Given the description of an element on the screen output the (x, y) to click on. 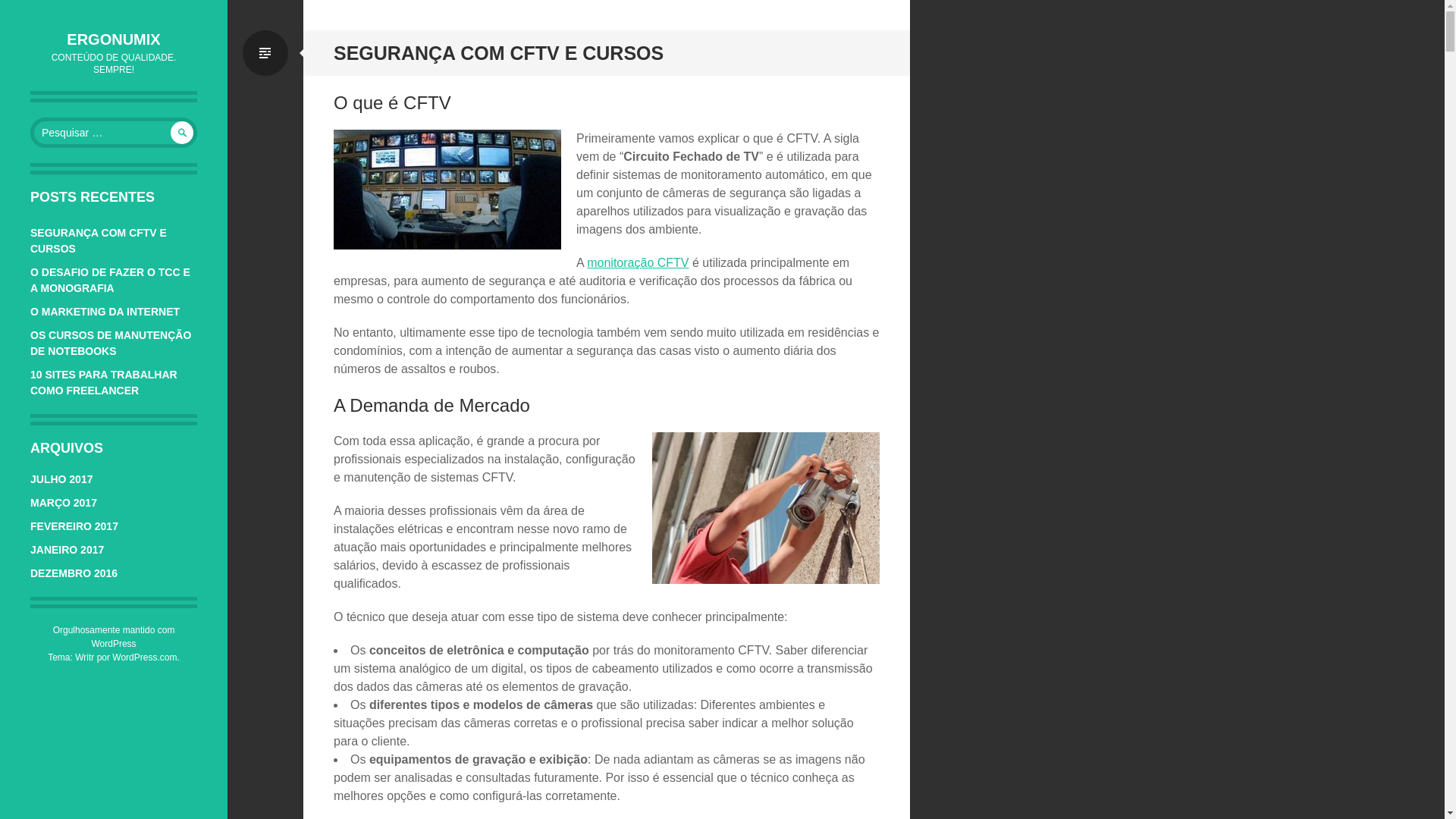
O DESAFIO DE FAZER O TCC E A MONOGRAFIA (110, 280)
O MARKETING DA INTERNET (104, 311)
Pesquisar por: (113, 132)
DEZEMBRO 2016 (73, 573)
ERGONUMIX (113, 39)
Ergonumix (113, 39)
JANEIRO 2017 (66, 549)
Orgulhosamente mantido com WordPress (113, 636)
FEVEREIRO 2017 (73, 526)
WordPress.com (144, 656)
